Given the description of an element on the screen output the (x, y) to click on. 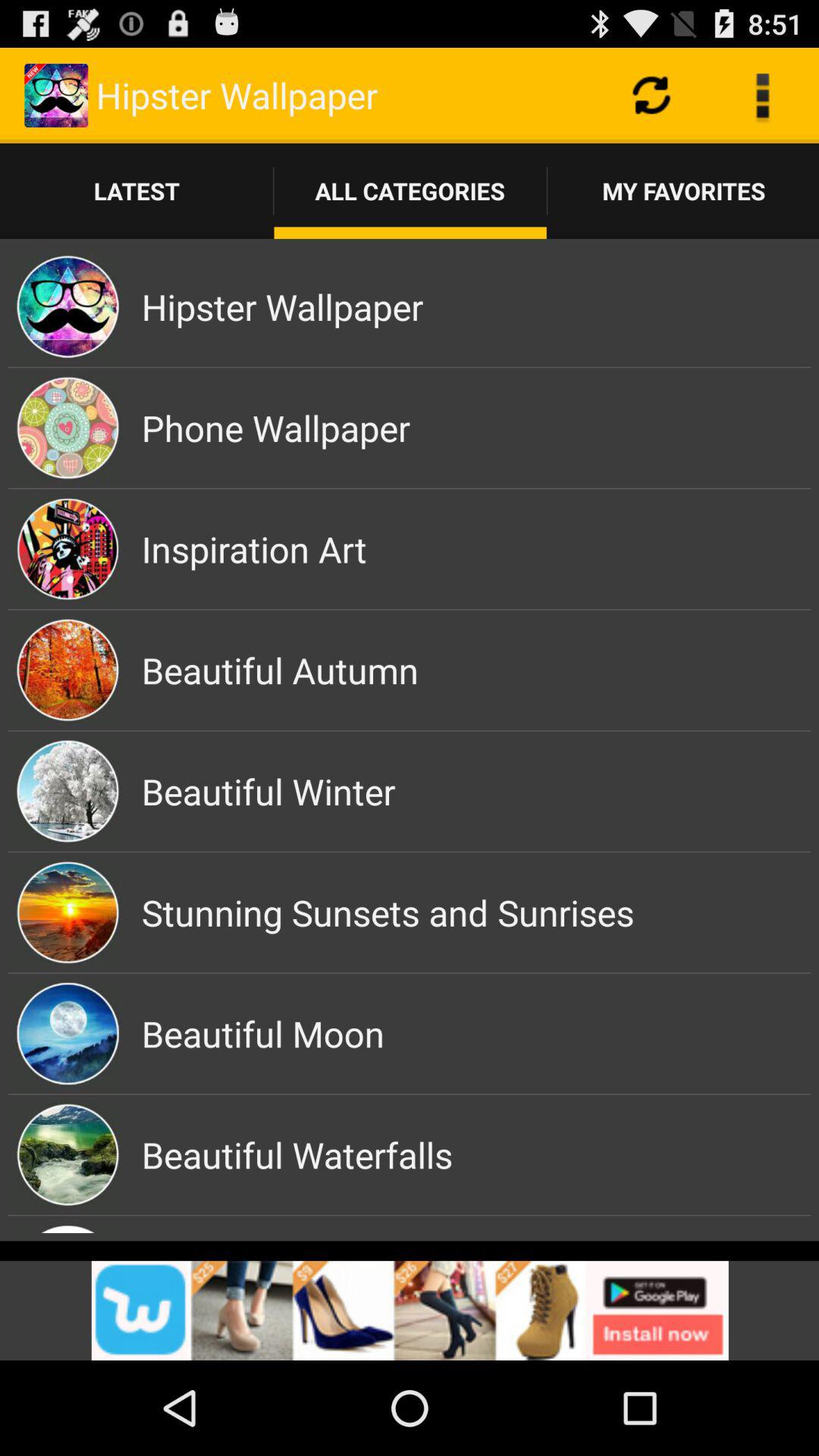
details about advertisement (409, 1310)
